Given the description of an element on the screen output the (x, y) to click on. 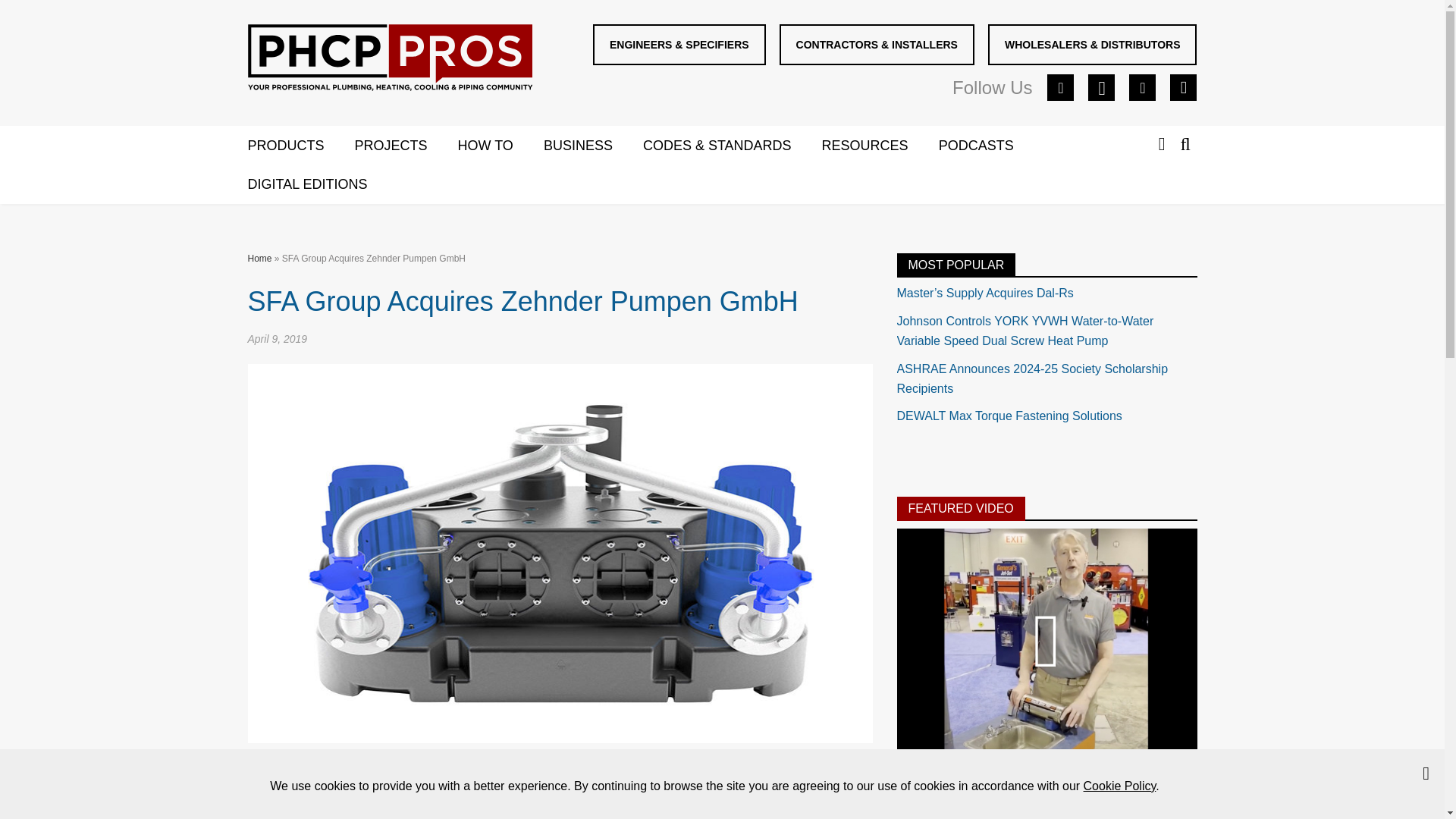
logo (389, 60)
HOW TO (500, 146)
Cookie Policy (1119, 785)
logo (389, 57)
BUSINESS (593, 146)
PROJECTS (406, 146)
PRODUCTS (300, 146)
